Given the description of an element on the screen output the (x, y) to click on. 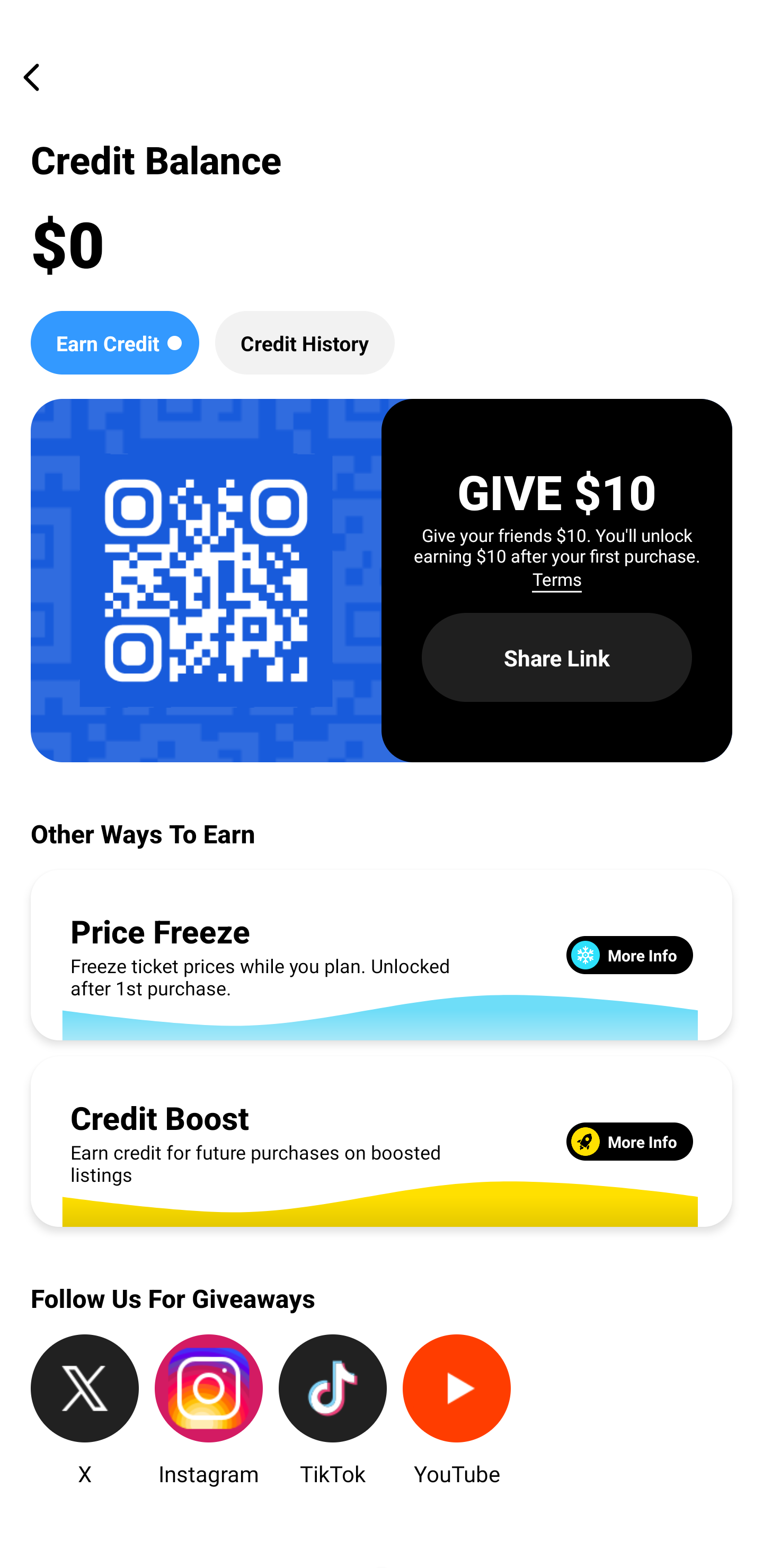
Earn Credit (114, 342)
Credit History (304, 342)
Share Link (556, 657)
More Info (629, 954)
More Info (629, 1141)
X (84, 1411)
Instagram (208, 1411)
TikTok (332, 1411)
YouTube (456, 1411)
